Given the description of an element on the screen output the (x, y) to click on. 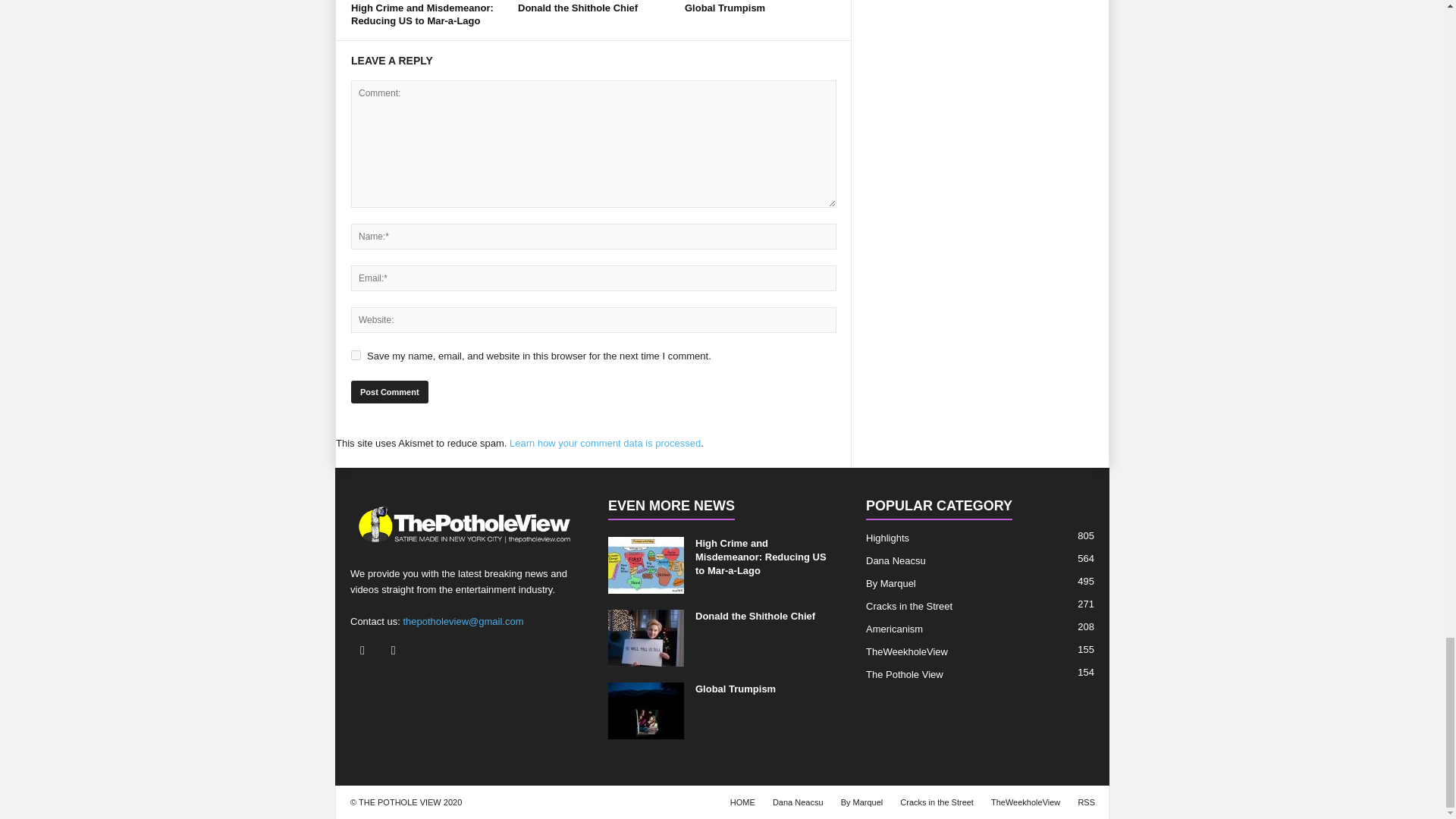
yes (355, 355)
Post Comment (389, 391)
Donald the Shithole Chief (577, 7)
High Crime and Misdemeanor: Reducing US to Mar-a-Lago (421, 14)
